Given the description of an element on the screen output the (x, y) to click on. 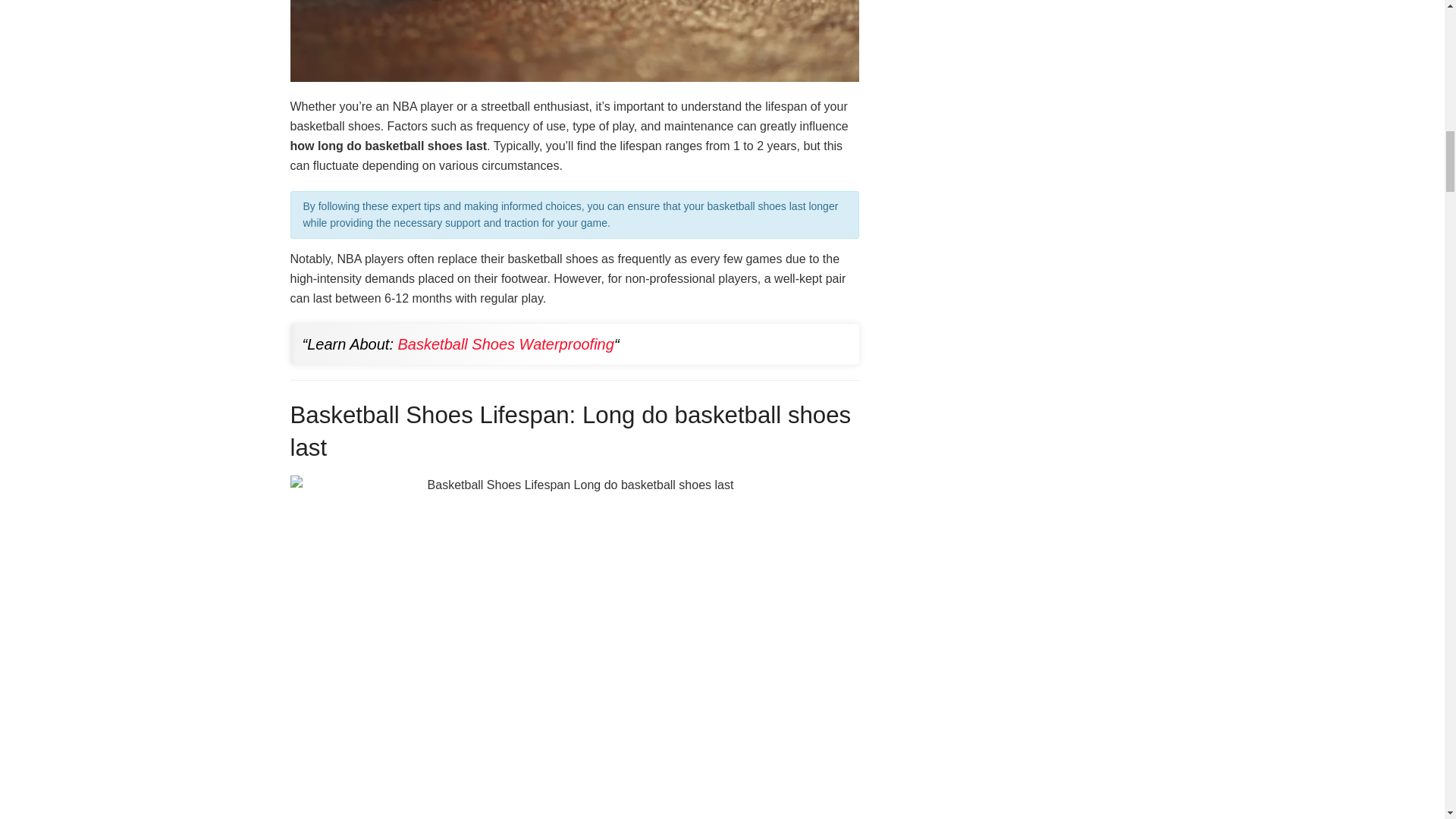
Extending of Replace Your Basketball Shoes Lifespan 2 (574, 40)
